Given the description of an element on the screen output the (x, y) to click on. 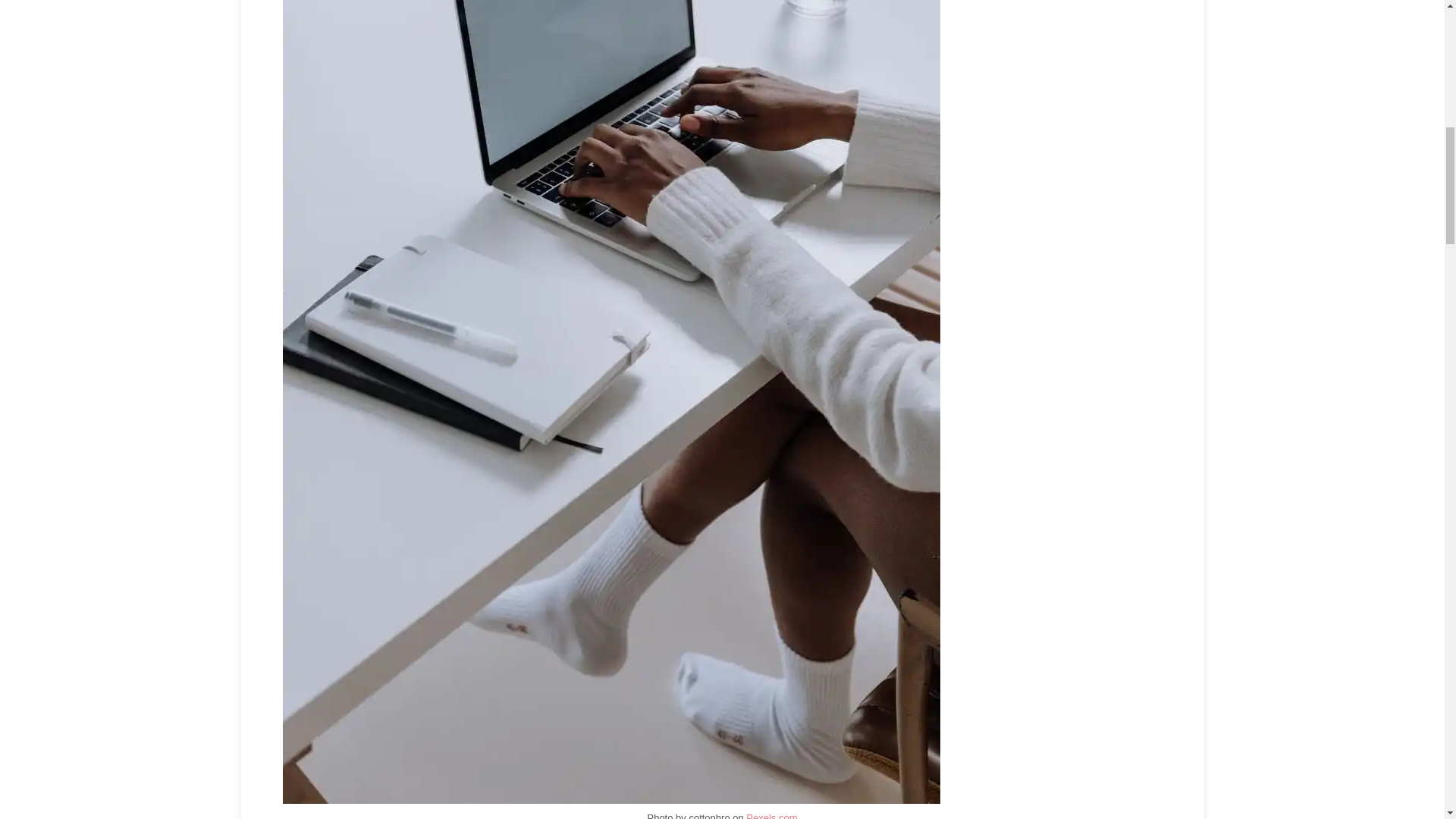
Pexels.com (770, 815)
